Given the description of an element on the screen output the (x, y) to click on. 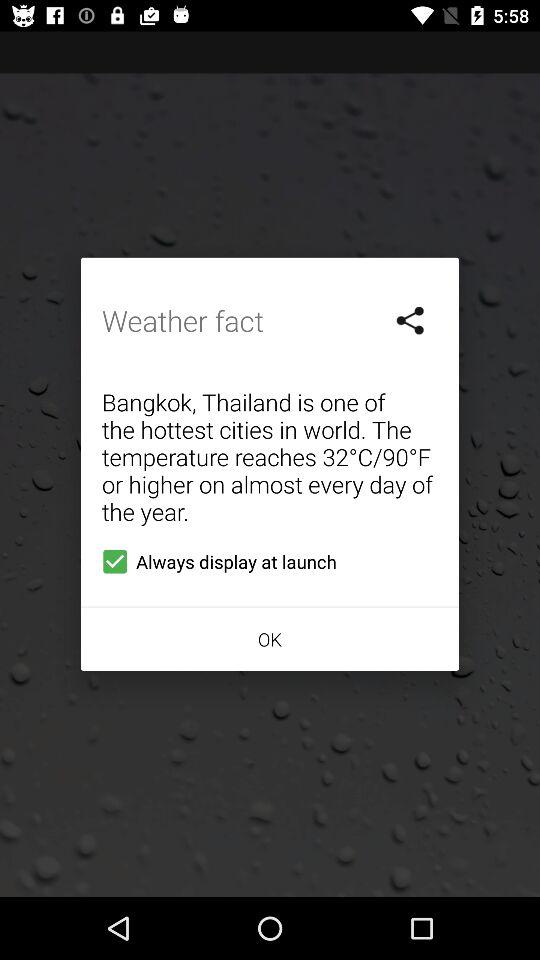
scroll to always display at item (215, 561)
